Given the description of an element on the screen output the (x, y) to click on. 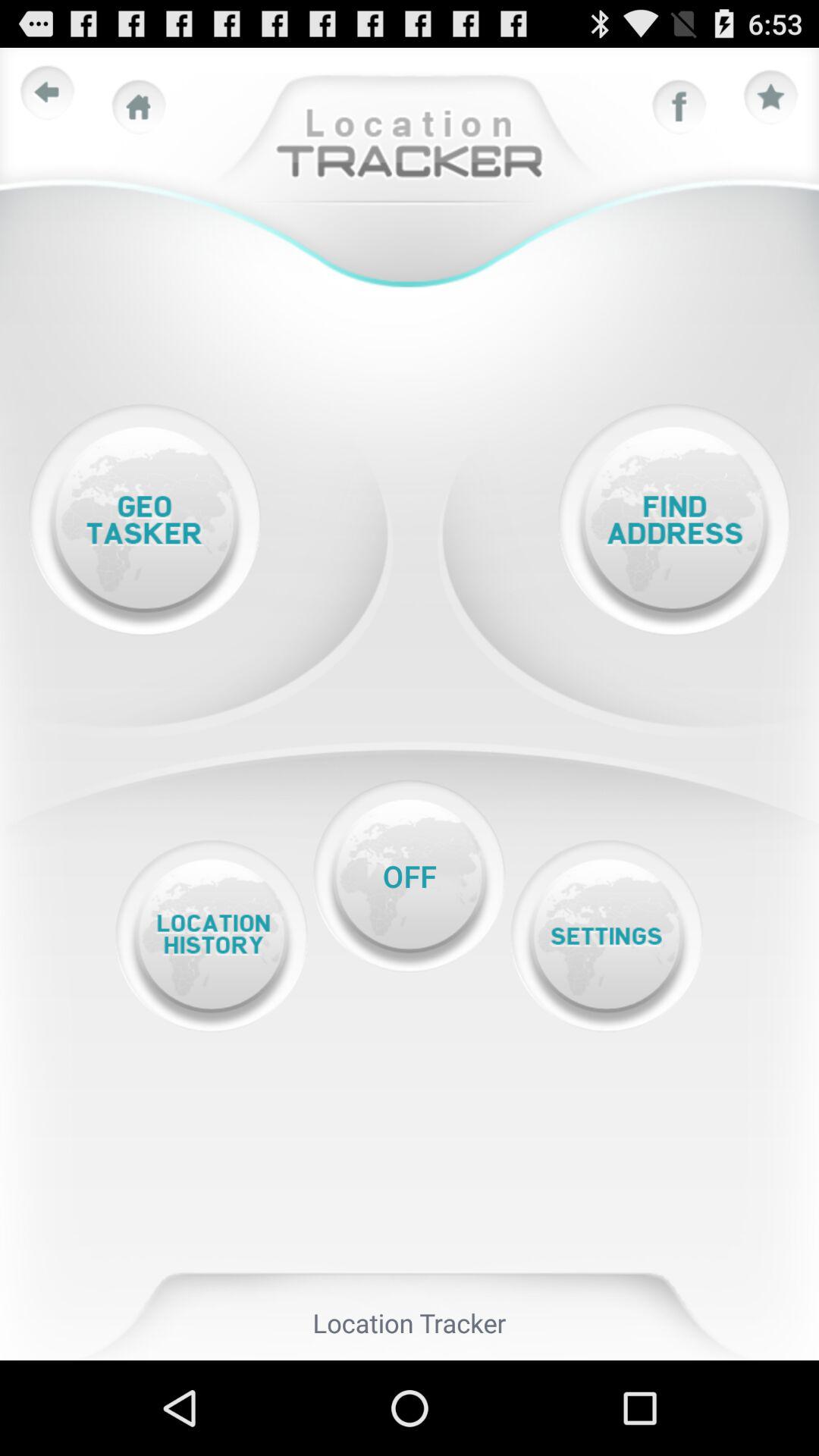
go to home (139, 107)
